Given the description of an element on the screen output the (x, y) to click on. 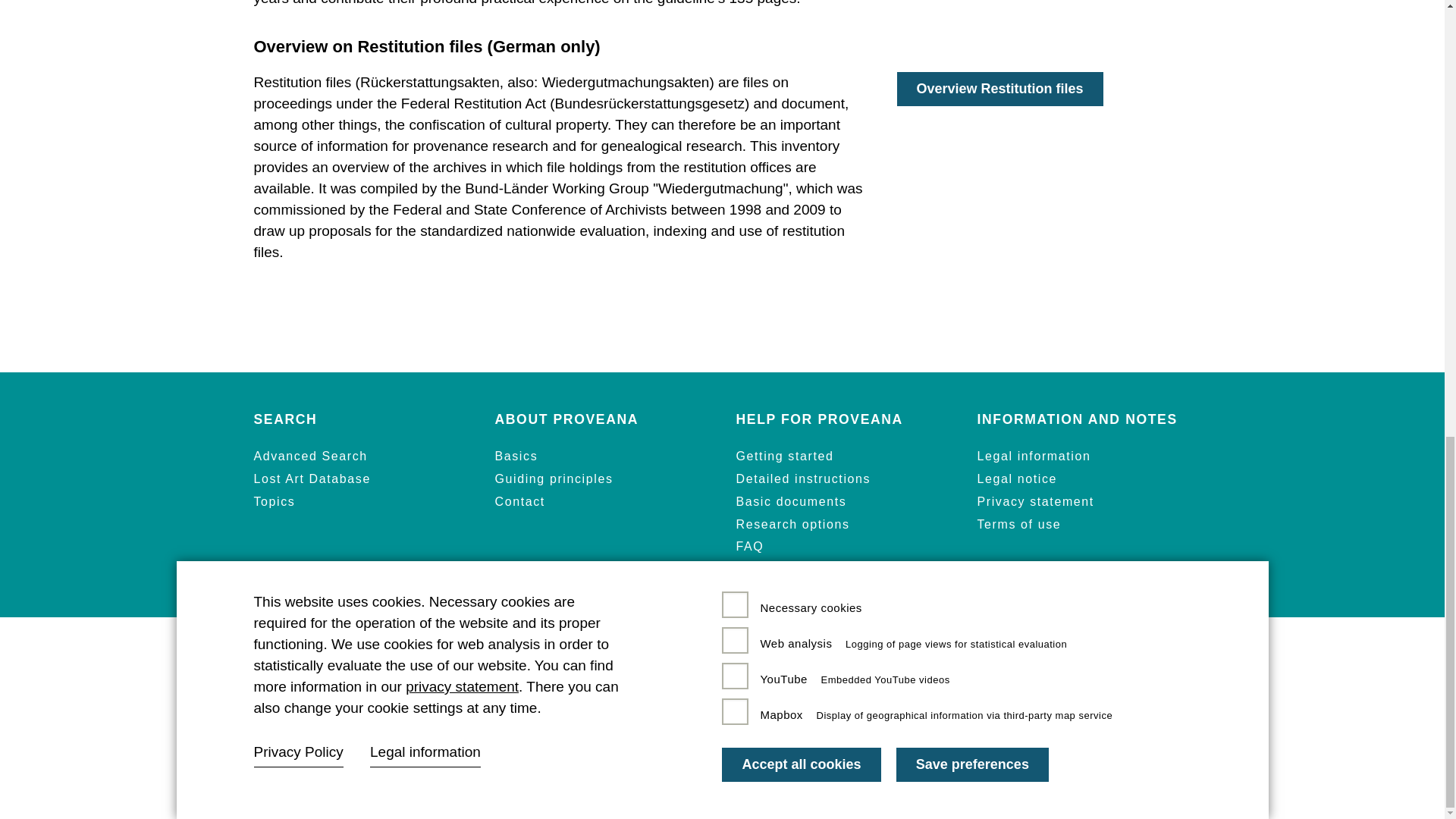
Up (1389, 13)
Up (1389, 13)
Overview Restitution files (999, 89)
Topics (274, 502)
